Given the description of an element on the screen output the (x, y) to click on. 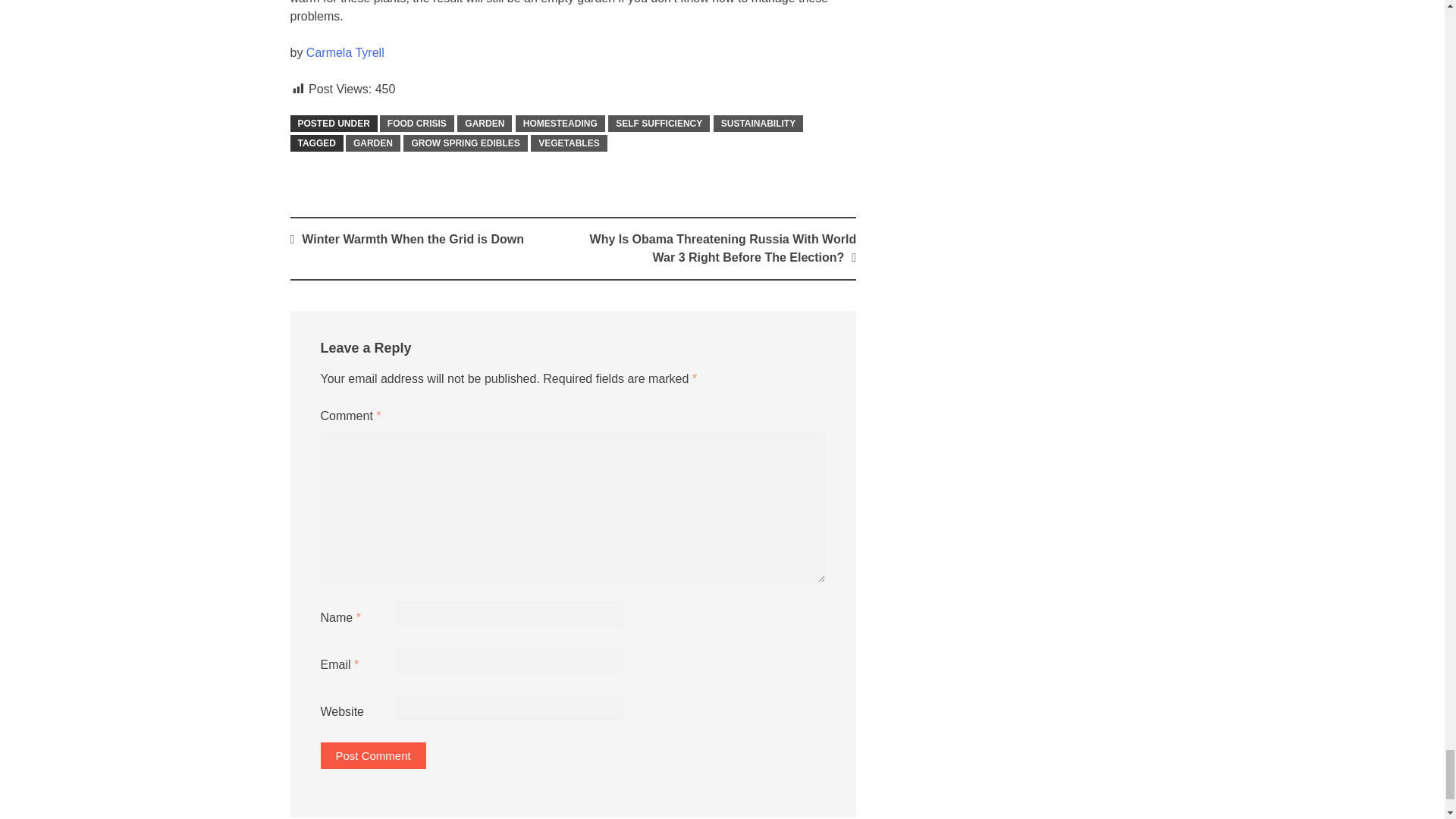
Post Comment (372, 755)
